Given the description of an element on the screen output the (x, y) to click on. 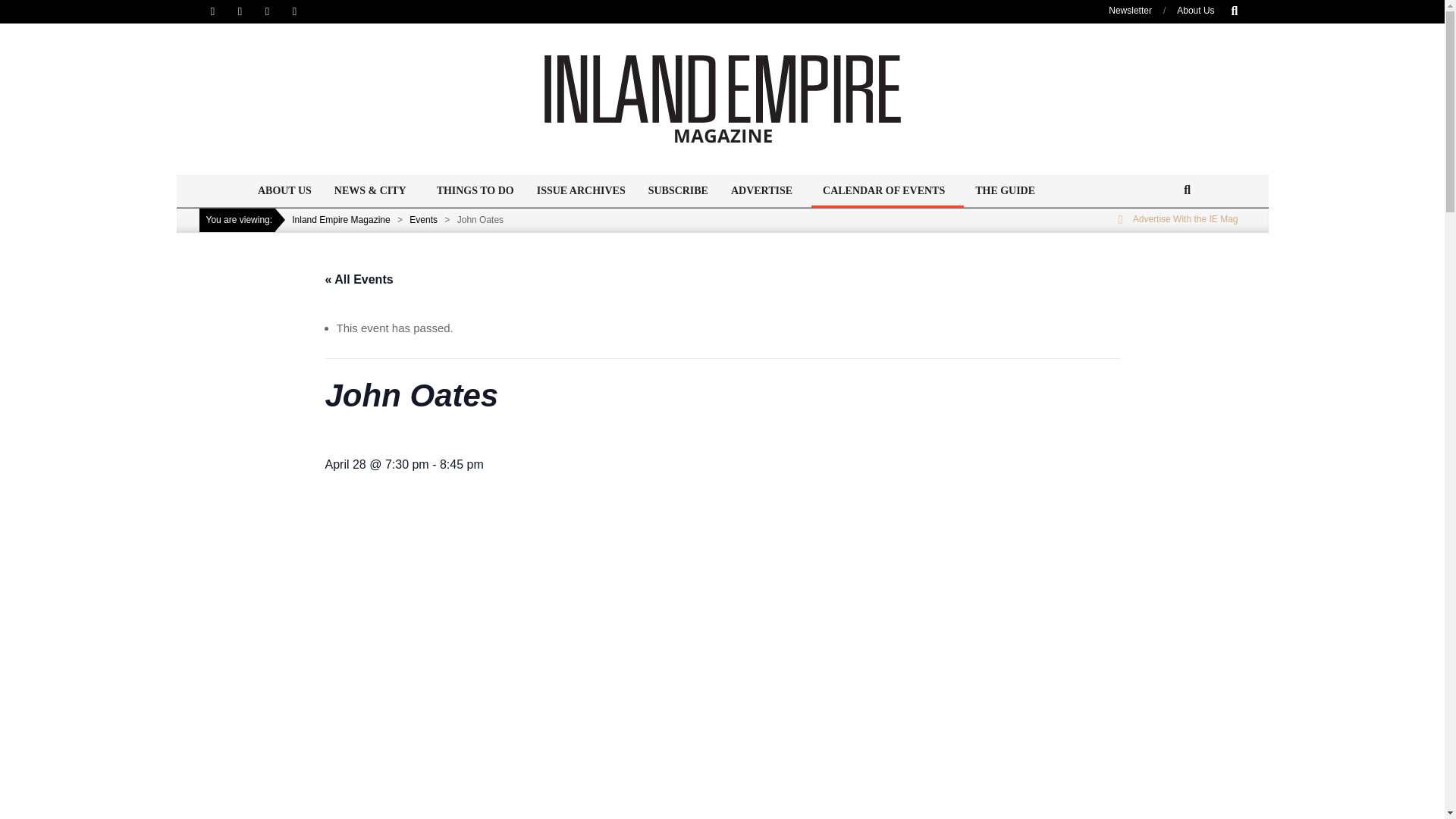
Search (20, 8)
SUBSCRIBE (678, 191)
THINGS TO DO (475, 191)
Inland Empire Magazine (341, 219)
Events (423, 219)
Go to Inland Empire Magazine. (341, 219)
About Us (1195, 9)
ADVERTISE (764, 191)
ISSUE ARCHIVES (581, 191)
Search (21, 8)
THE GUIDE (1004, 191)
Newsletter (1129, 9)
CALENDAR OF EVENTS (886, 191)
Go to Events. (423, 219)
ABOUT US (284, 191)
